Given the description of an element on the screen output the (x, y) to click on. 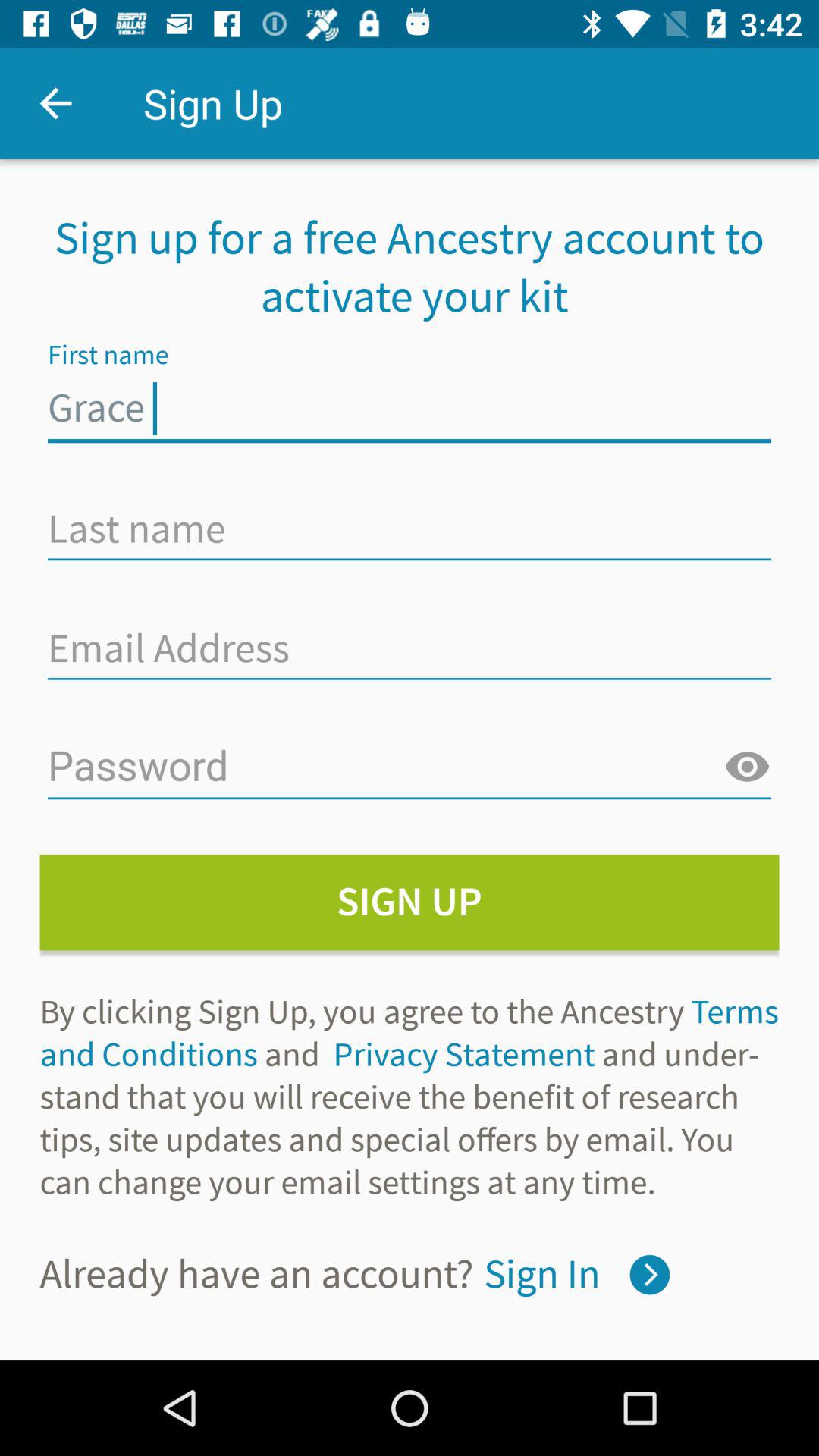
select the text which is to the left of sign in (257, 1274)
